Given the description of an element on the screen output the (x, y) to click on. 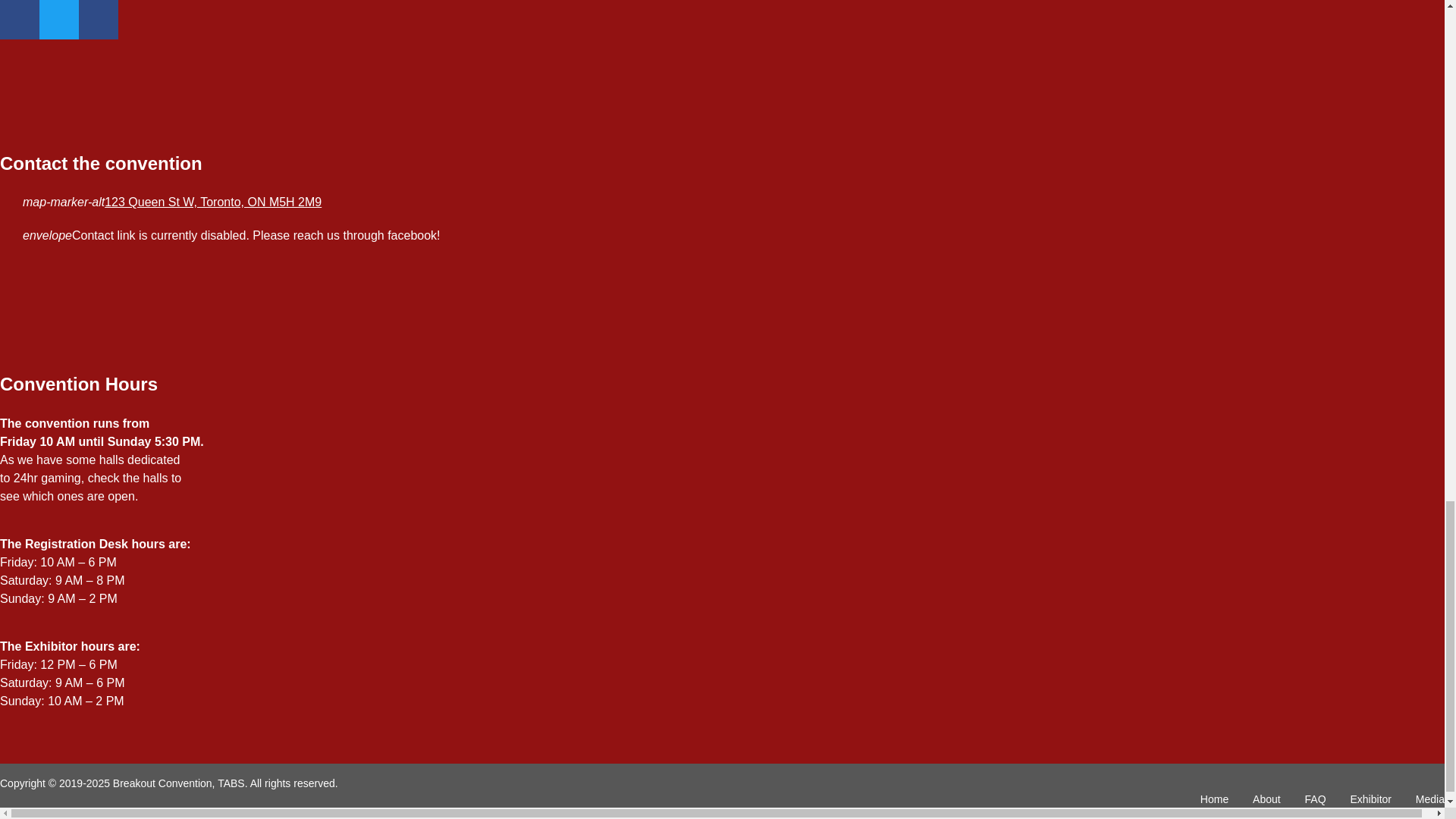
instagram (97, 19)
Frequently Asked Questions (1315, 799)
About, Map, Parking, Hours (1266, 799)
twitter (58, 19)
facebook (19, 19)
